Given the description of an element on the screen output the (x, y) to click on. 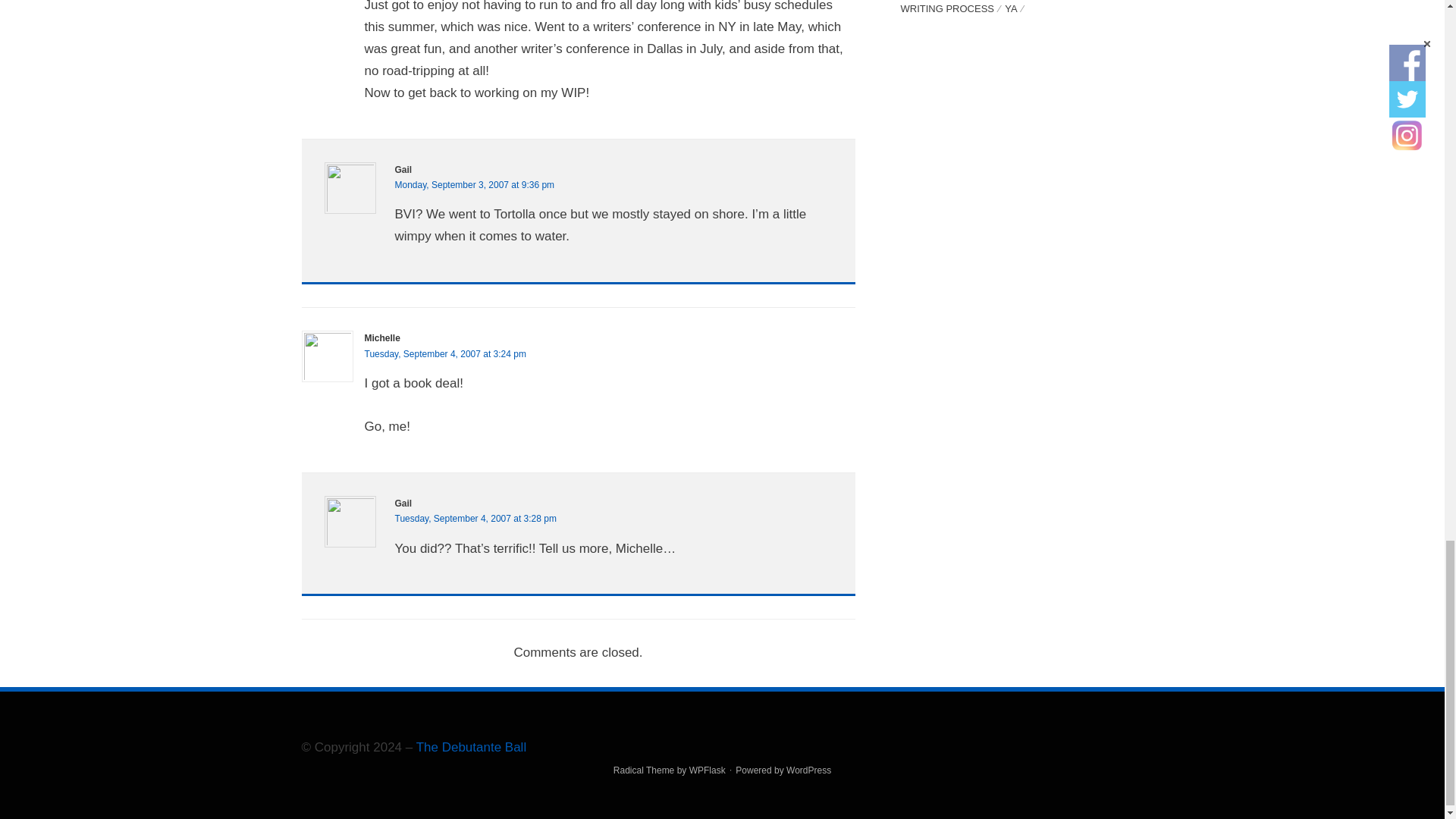
Michelle (381, 337)
WordPress (808, 769)
Tuesday, September 4, 2007 at 3:28 pm (475, 518)
Monday, September 3, 2007 at 9:36 pm (474, 184)
Tuesday, September 4, 2007 at 3:24 pm (444, 353)
WPFlask (706, 769)
